Given the description of an element on the screen output the (x, y) to click on. 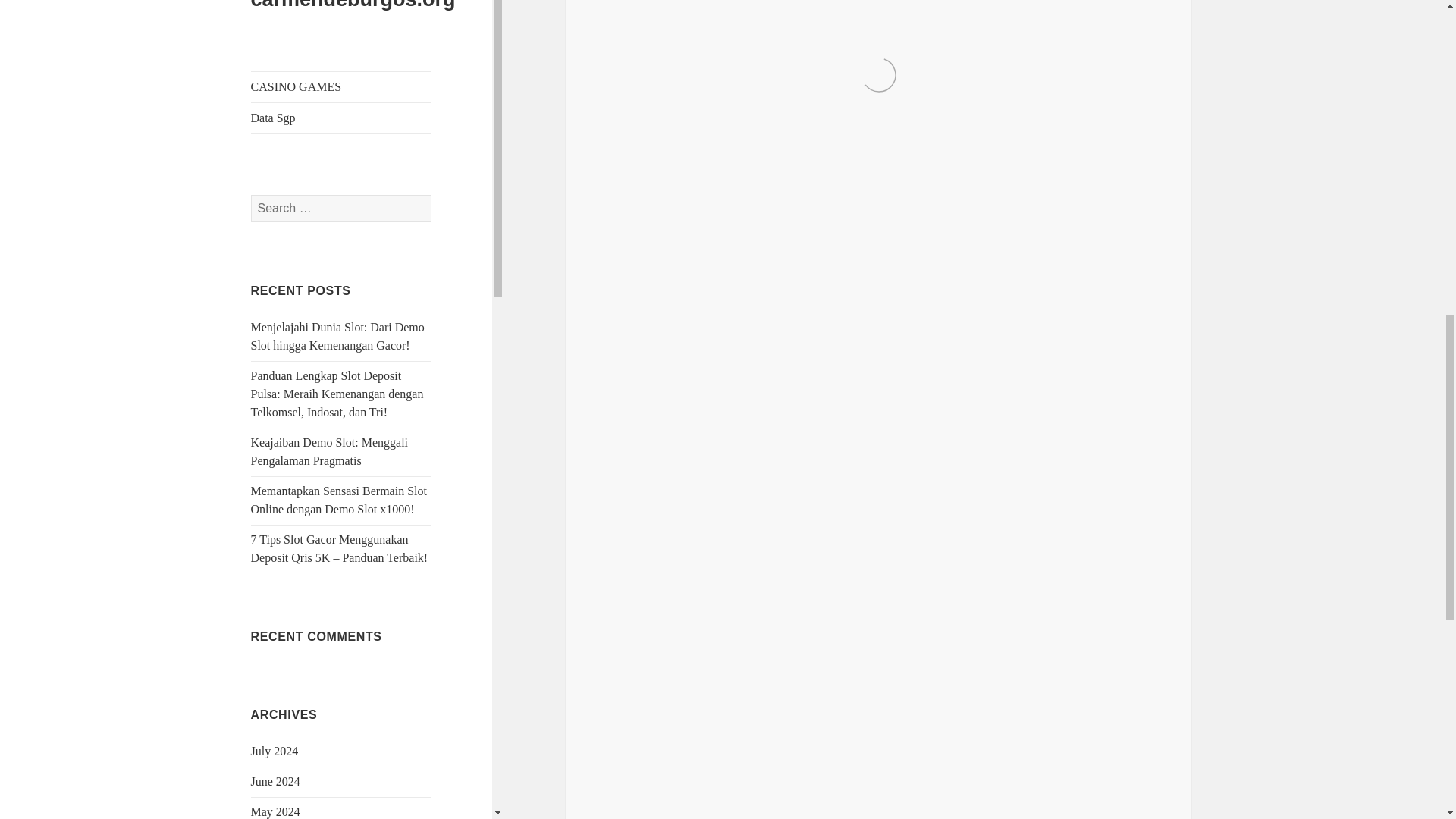
February 2023 (285, 521)
May 2024 (274, 65)
August 2022 (281, 703)
May 2022 (274, 793)
April 2022 (277, 818)
November 2023 (290, 247)
September 2022 (290, 672)
January 2024 (282, 187)
December 2022 (289, 581)
December 2023 (289, 217)
July 2023 (274, 369)
September 2023 (290, 308)
November 2022 (290, 612)
April 2023 (277, 460)
October 2023 (283, 278)
